Given the description of an element on the screen output the (x, y) to click on. 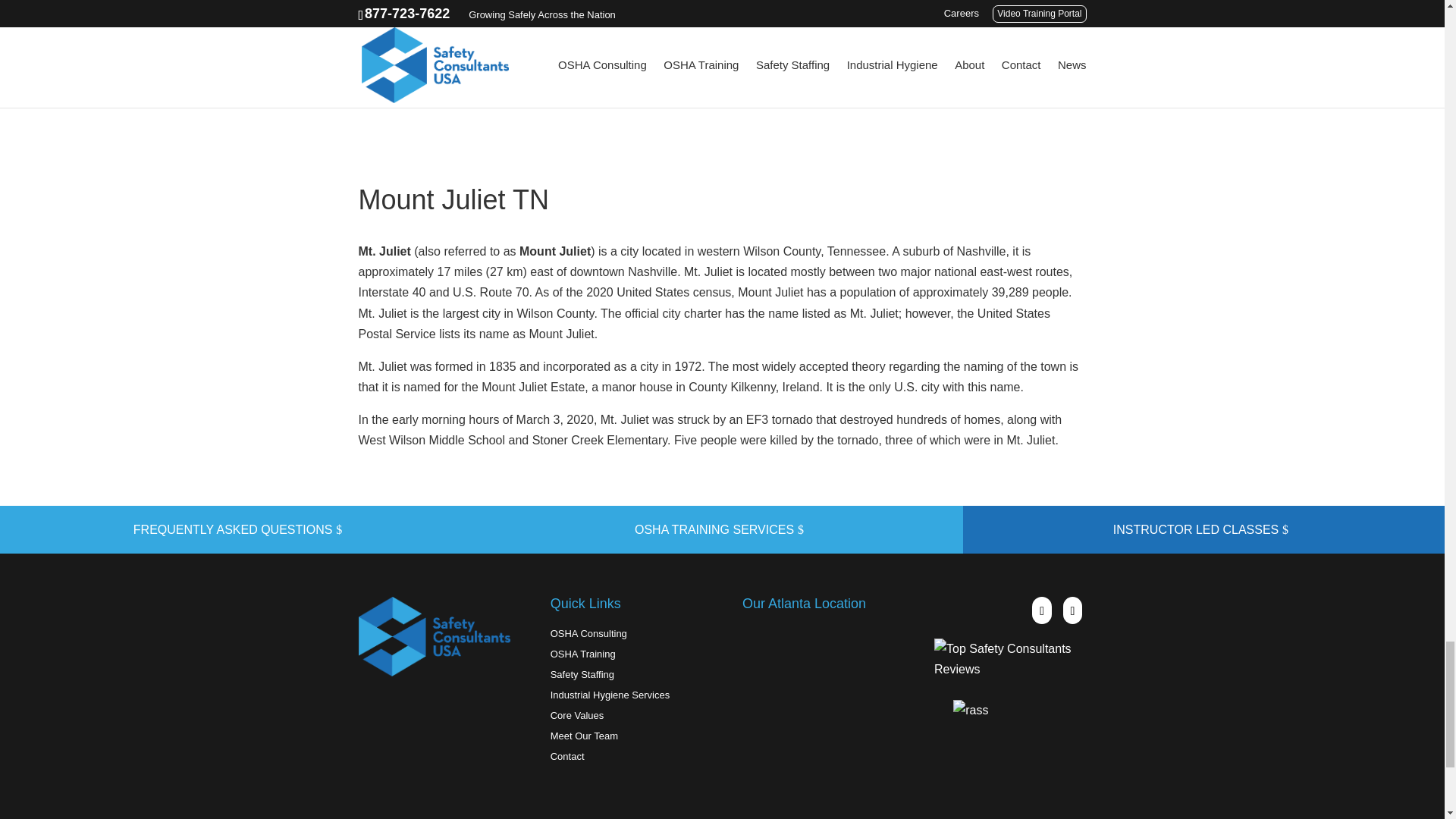
Nashville OSHA Training (722, 71)
